Given the description of an element on the screen output the (x, y) to click on. 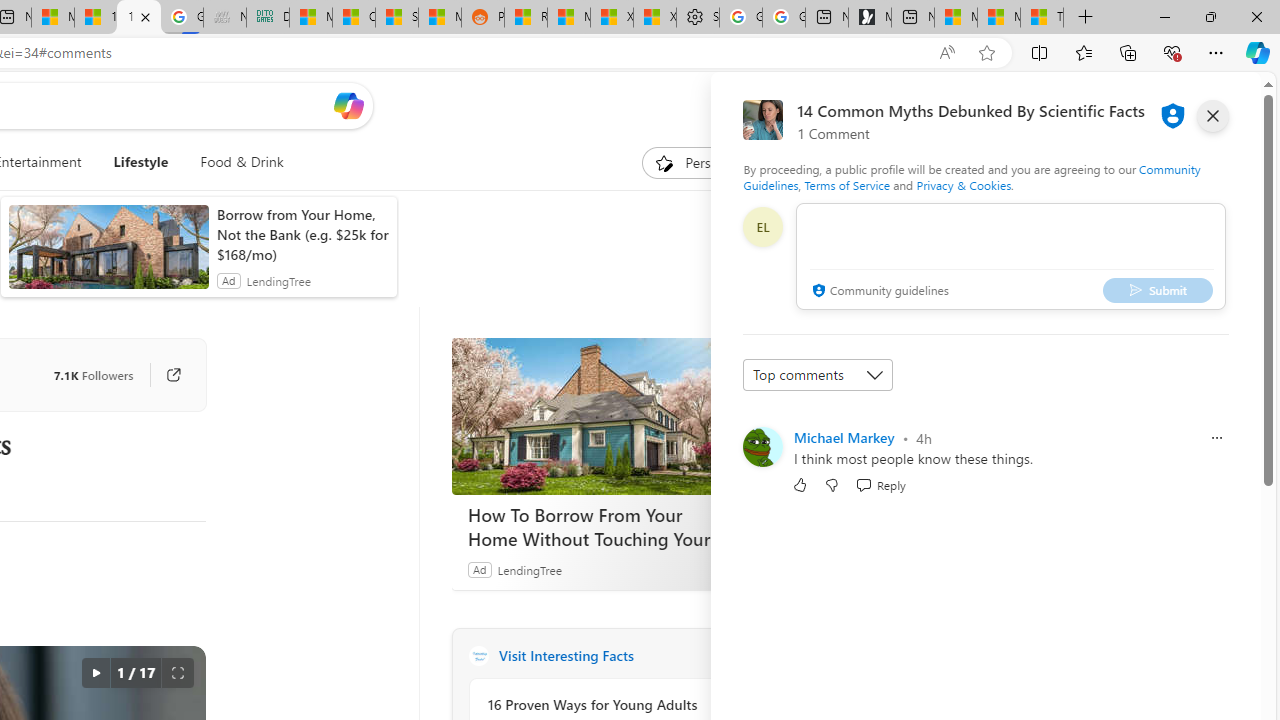
Profile Picture (762, 446)
autorotate button (95, 673)
Visit Interesting Facts website (726, 655)
Interesting Facts (478, 655)
Privacy & Cookies (964, 184)
comment-box (1011, 256)
Personalize (703, 162)
Full screen (177, 673)
Go to publisher's site (163, 374)
